Given the description of an element on the screen output the (x, y) to click on. 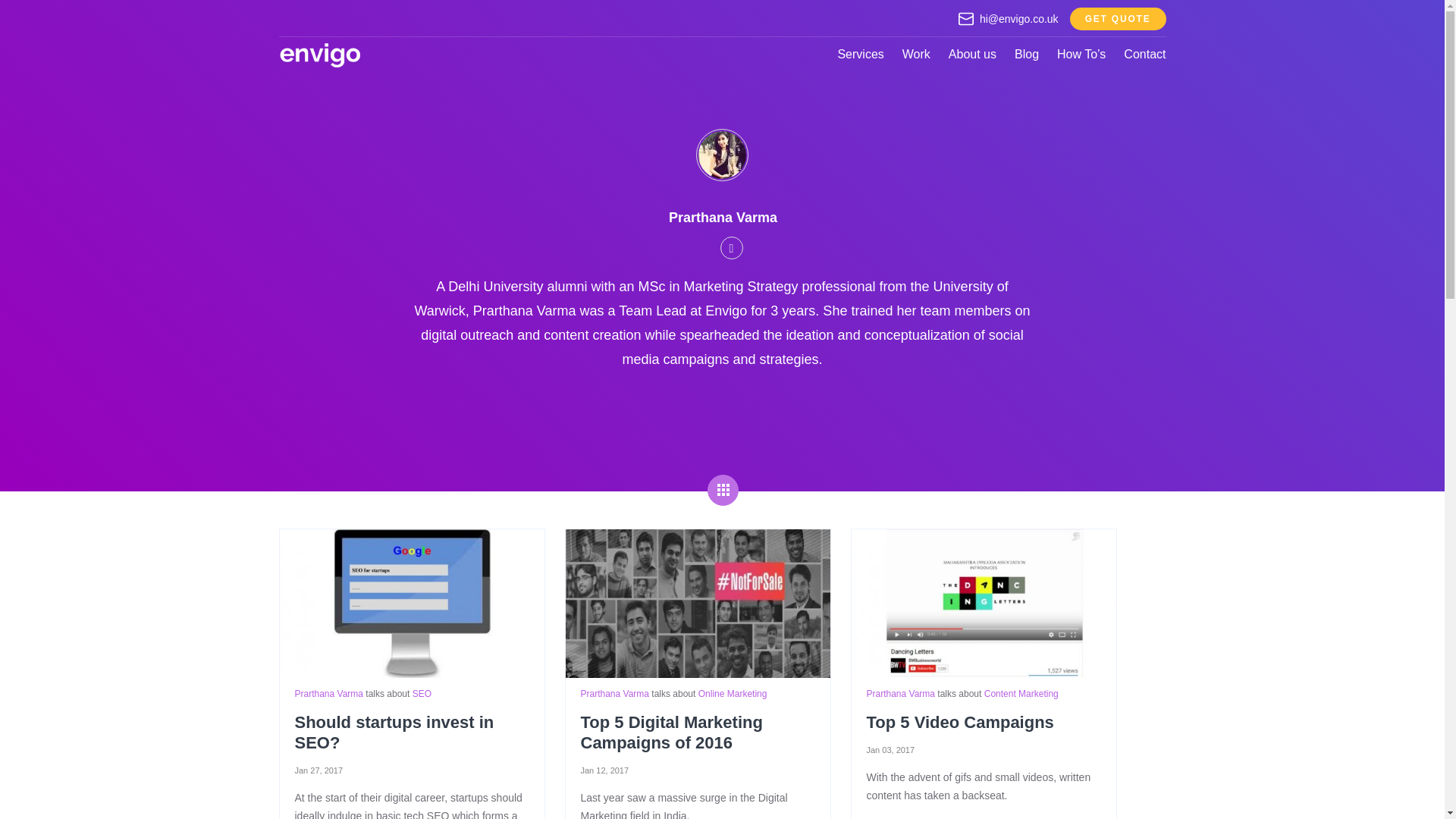
Services (860, 53)
Top 5 Digital Marketing Campaigns of 2016 (697, 603)
Top 5 Video Campaigns (982, 603)
GET QUOTE (1118, 18)
Should startups invest in SEO? (411, 603)
